Given the description of an element on the screen output the (x, y) to click on. 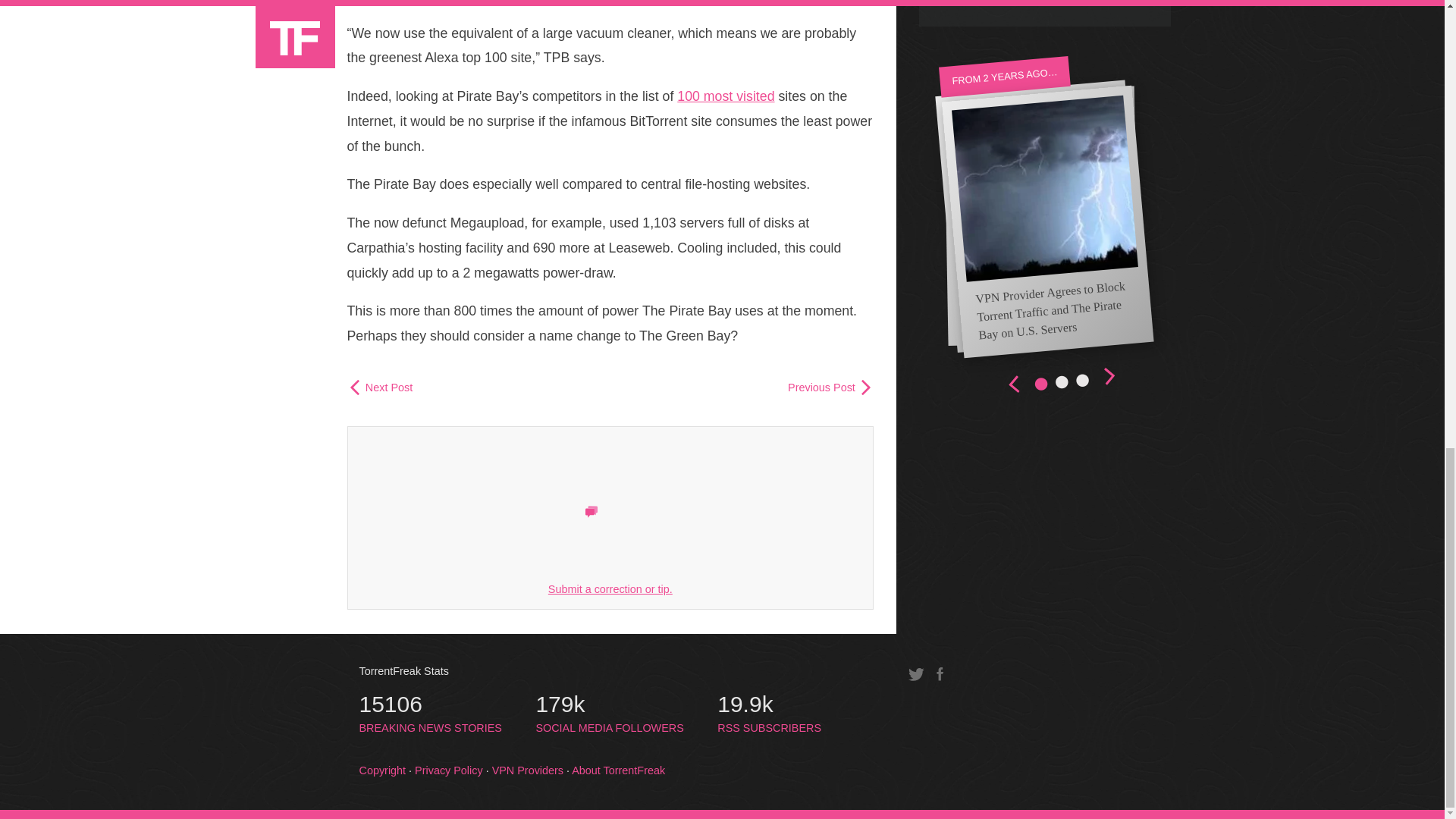
Submit a correction or tip. (610, 589)
About TorrentFreak (618, 770)
Copyright (382, 770)
Next Post (380, 387)
Privacy Policy (769, 713)
Previous Post (430, 713)
VPN Providers (608, 713)
100 most visited (448, 770)
